Given the description of an element on the screen output the (x, y) to click on. 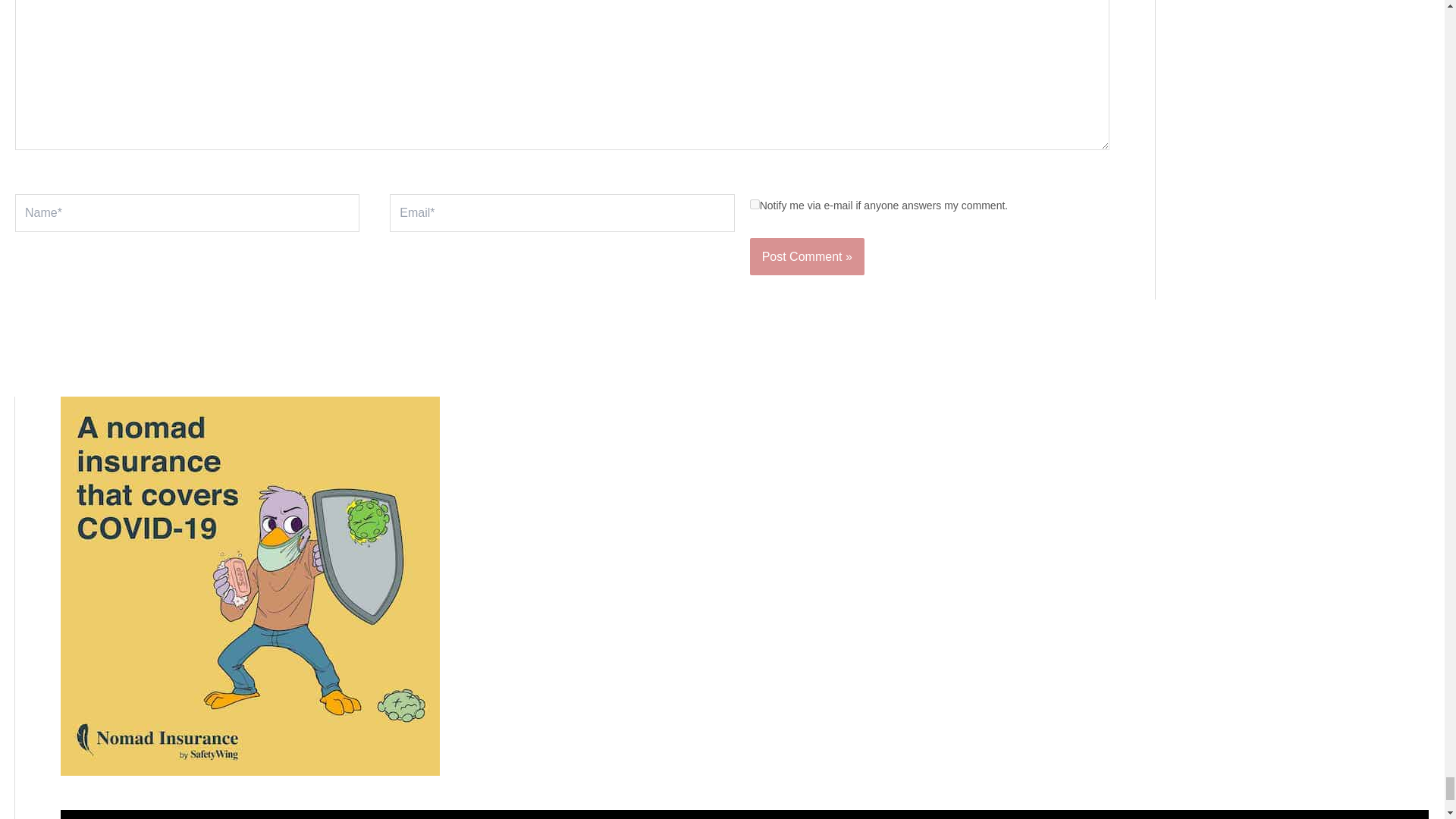
on (754, 204)
